Given the description of an element on the screen output the (x, y) to click on. 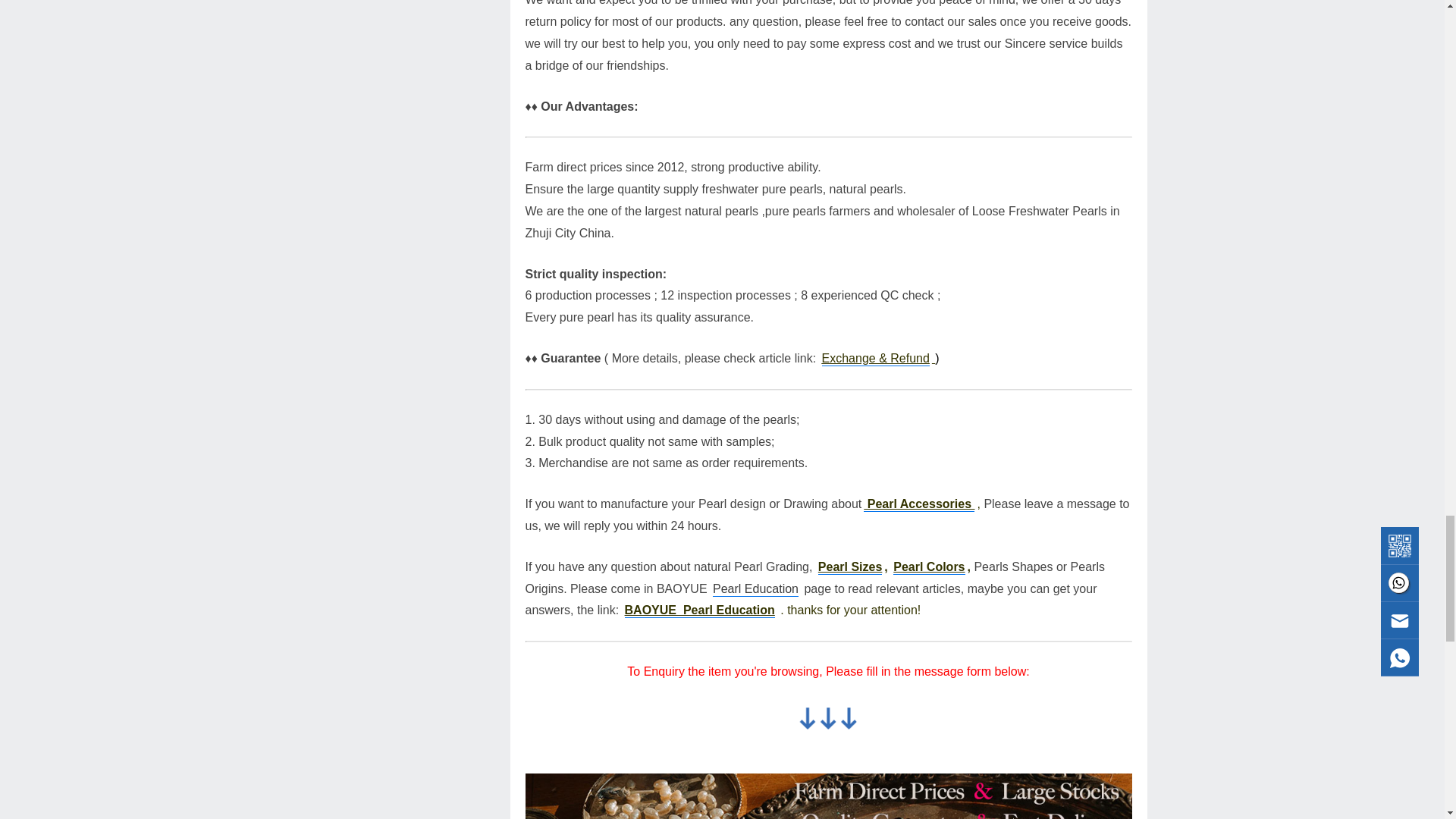
Pearl Education (755, 589)
